Given the description of an element on the screen output the (x, y) to click on. 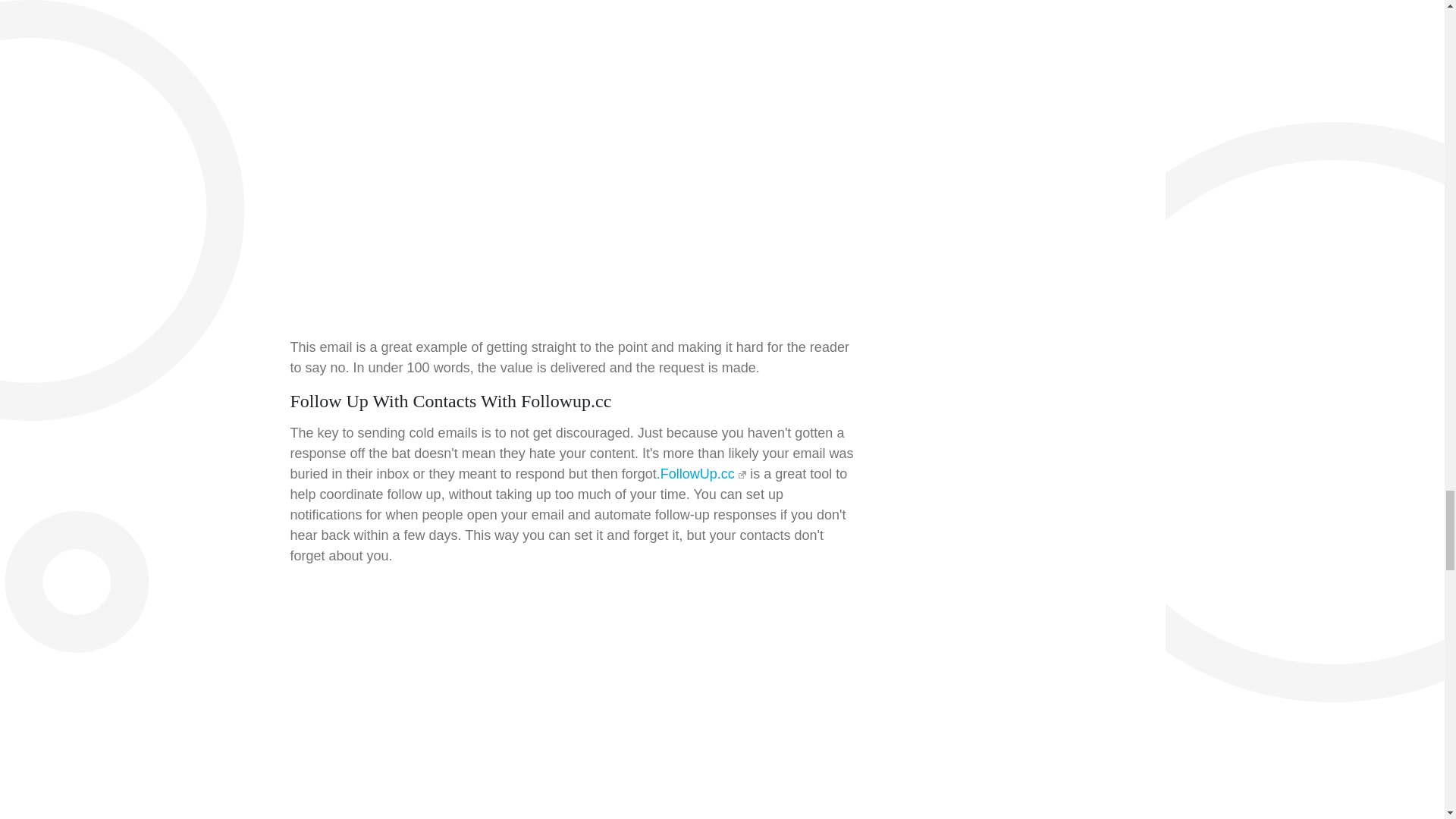
FollowUp.cc (703, 473)
